Given the description of an element on the screen output the (x, y) to click on. 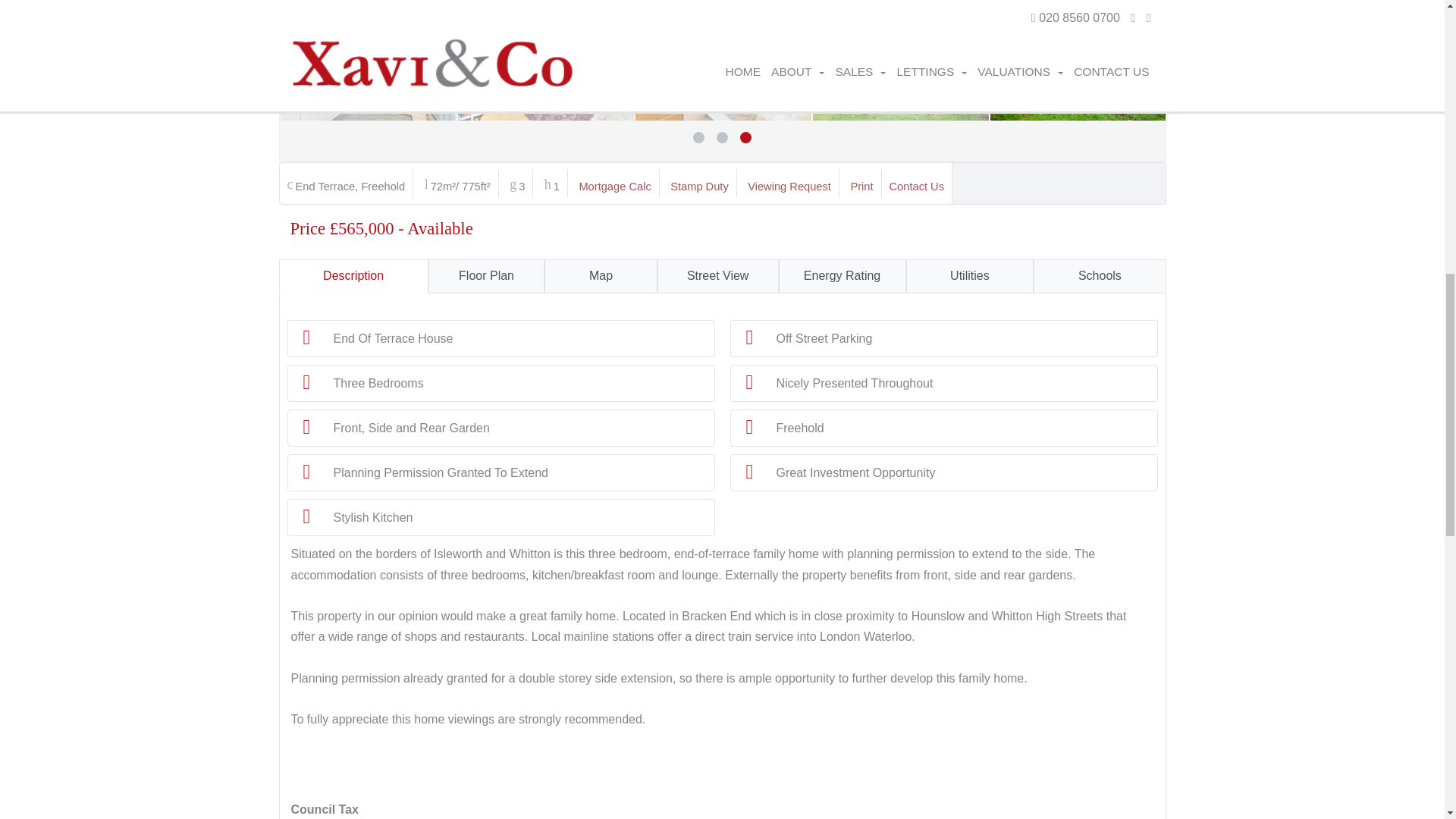
Map (600, 276)
Street View (718, 276)
Viewing Request (789, 186)
Utilities (969, 276)
Schools (1099, 276)
Energy Rating (841, 276)
Stamp Duty (699, 186)
Mortgage Calc (614, 186)
Floor Plan (486, 276)
Description (353, 275)
Contact Us (916, 186)
Print (861, 186)
Print (861, 186)
